Given the description of an element on the screen output the (x, y) to click on. 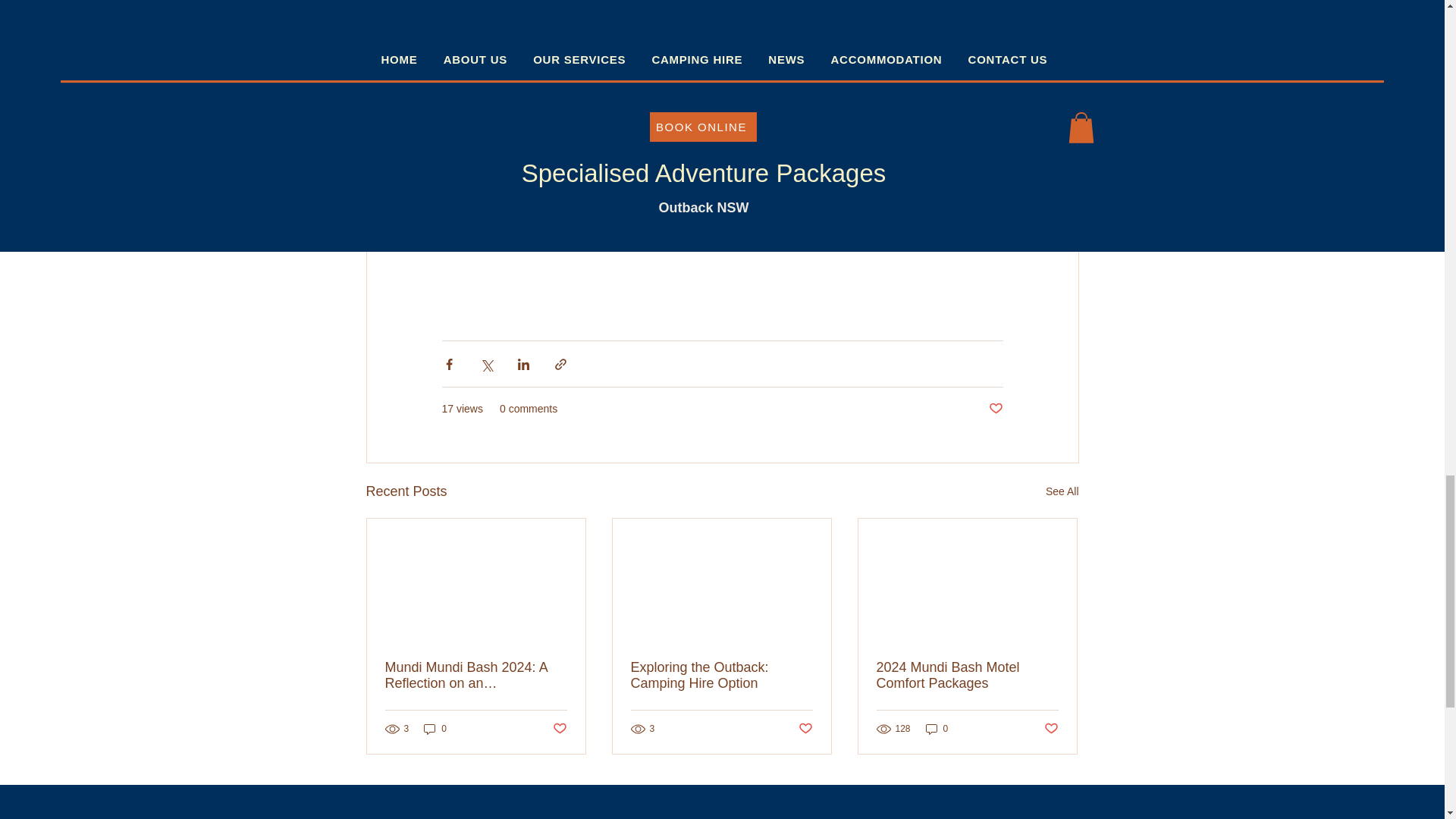
Post not marked as liked (995, 408)
Book accommodation (724, 218)
2024 Mundi Bash Motel Comfort Packages (967, 675)
Post not marked as liked (804, 729)
0 (937, 728)
Post not marked as liked (1050, 729)
Post not marked as liked (558, 729)
Exploring the Outback: Camping Hire Option (721, 675)
See All (1061, 491)
